Given the description of an element on the screen output the (x, y) to click on. 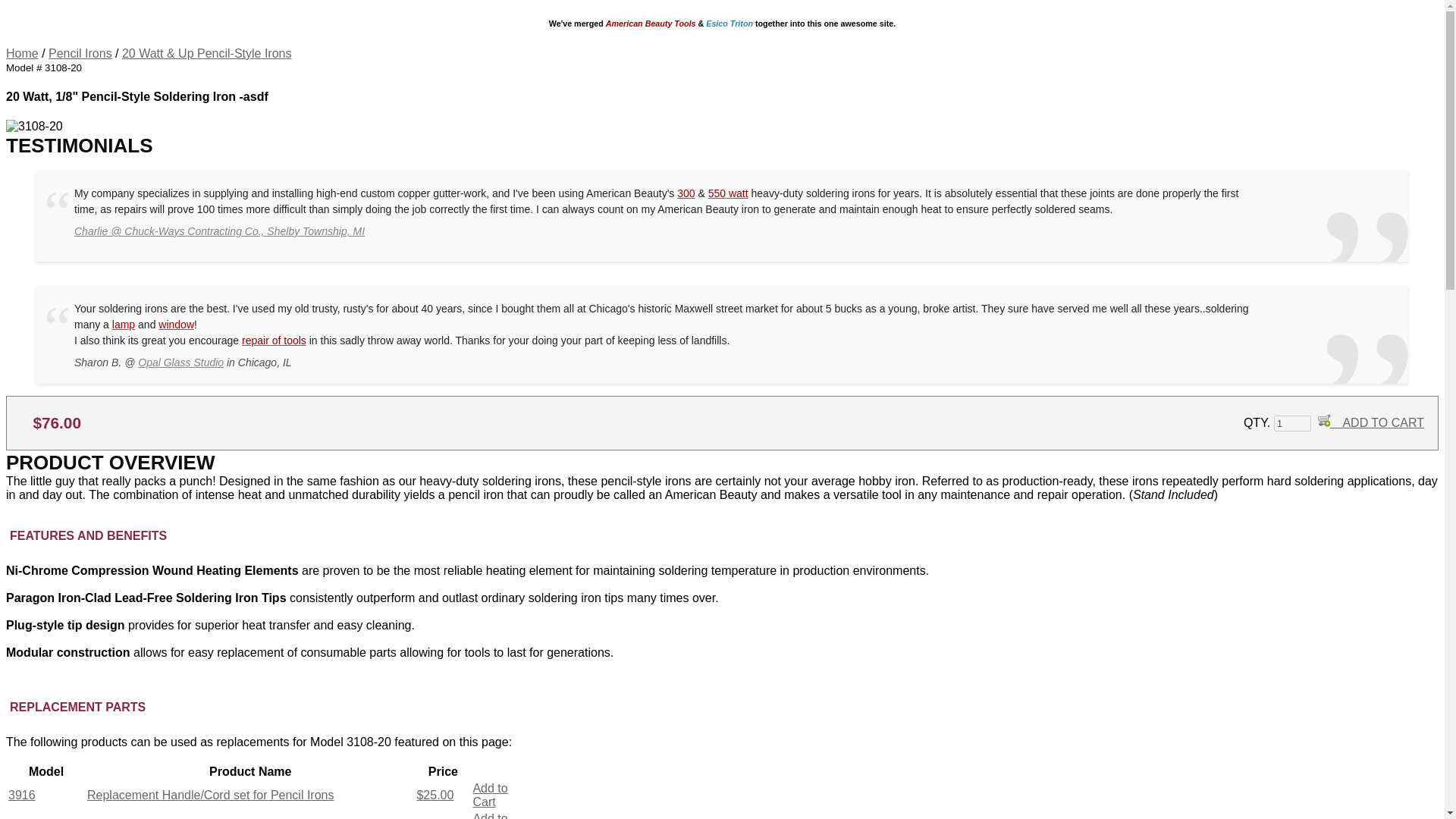
repair of tools (273, 340)
lamp (123, 324)
Opal Glass Studio (181, 362)
Add to Cart (488, 795)
Pencil Irons (80, 52)
Add To Cart (1323, 420)
Home (22, 52)
3916 (21, 794)
550 watt (727, 193)
300 (685, 193)
